Given the description of an element on the screen output the (x, y) to click on. 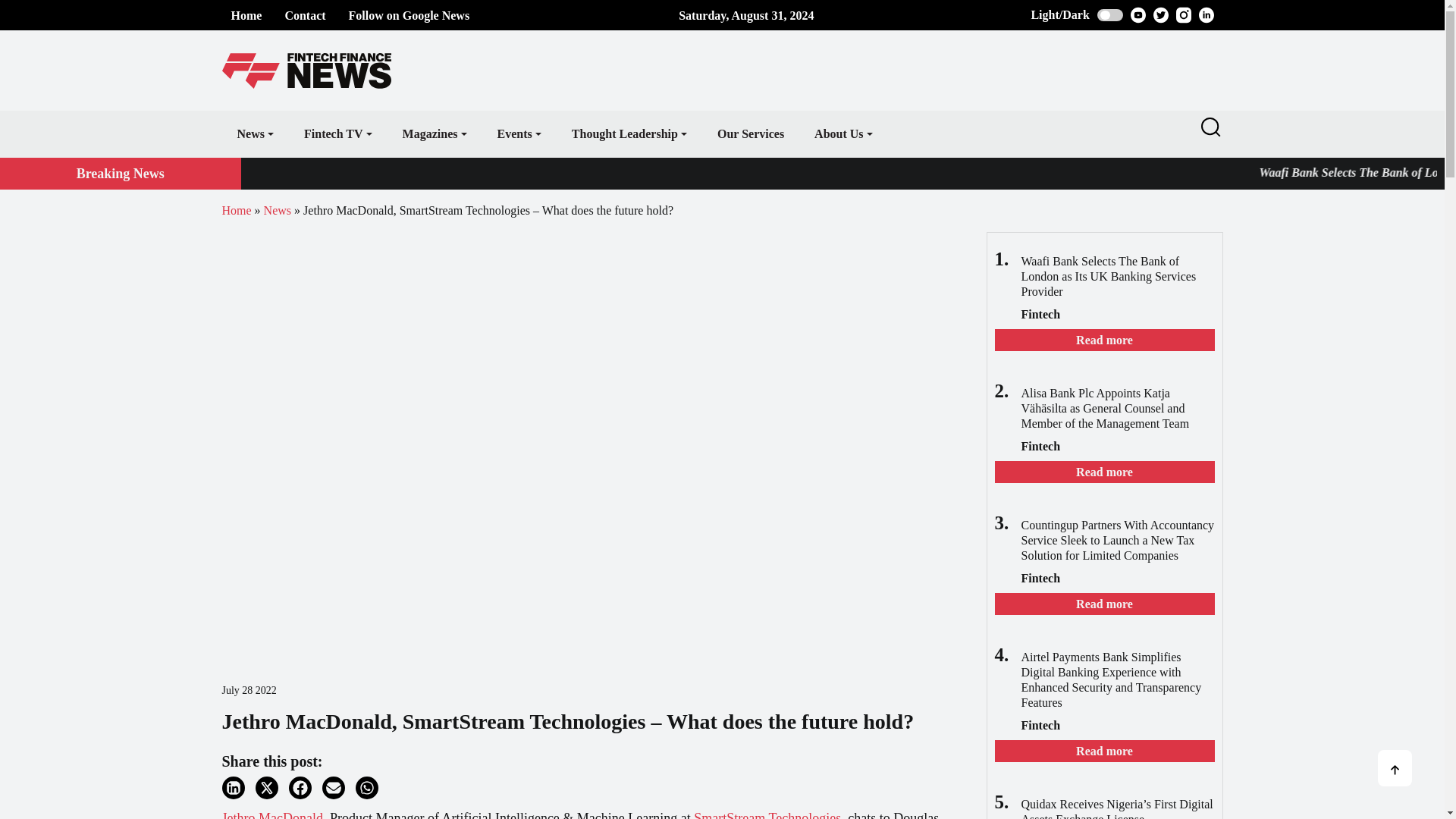
Follow on Google News (409, 15)
Fintech TV (337, 134)
Home (246, 15)
Magazines (434, 134)
News (254, 134)
Events (518, 134)
Contact (303, 15)
Fintech TV (337, 134)
